Given the description of an element on the screen output the (x, y) to click on. 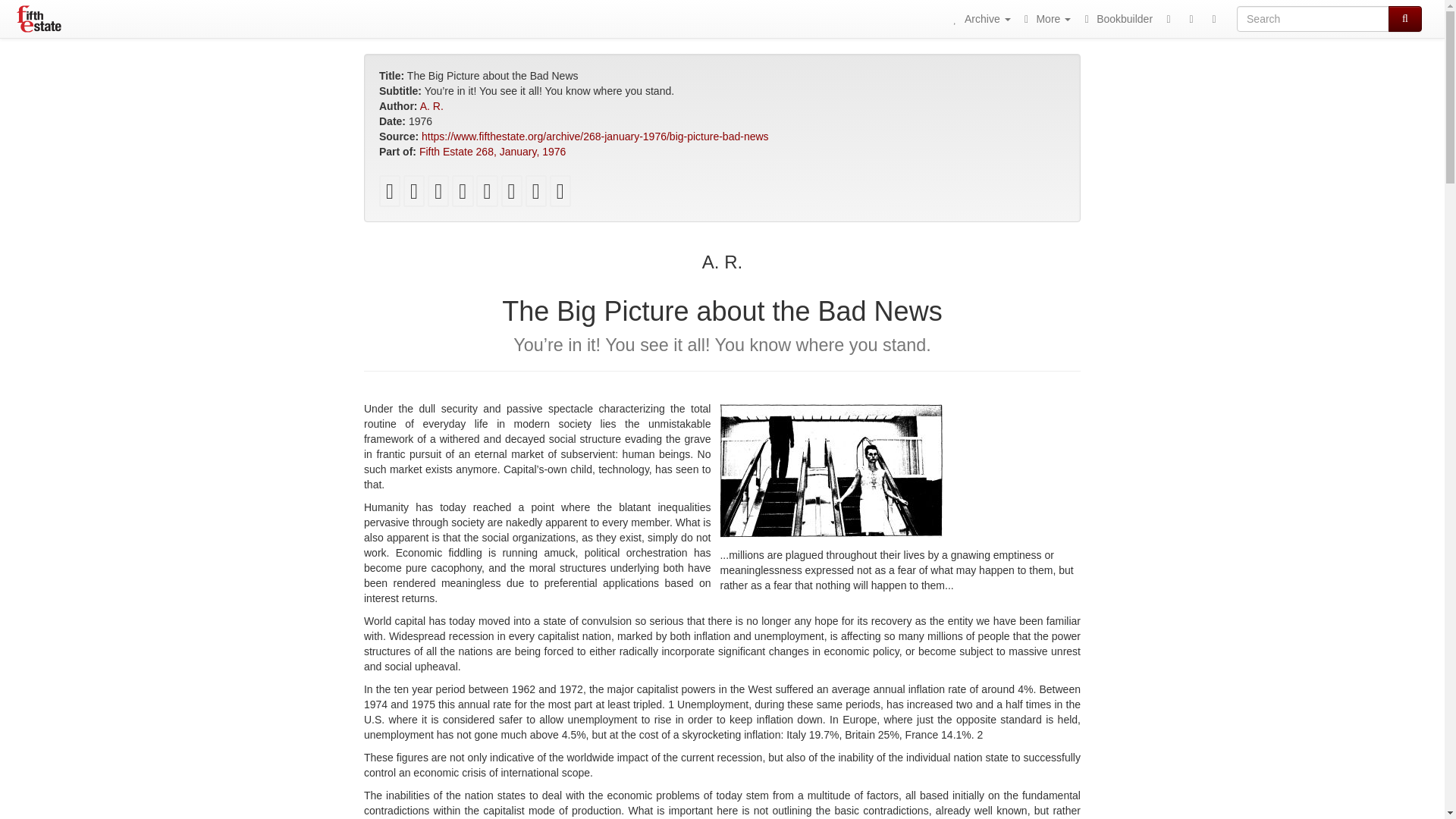
plain text source (486, 193)
Fifth Estate Archive (38, 18)
Bookbuilder (1116, 18)
A. R. (432, 105)
Select individual parts for the bookbuilder (560, 193)
texts by authors, title, topic... (978, 18)
Search (1405, 18)
Add this text to the bookbuilder (536, 193)
Bookbuilder (1116, 18)
More (1044, 18)
